Given the description of an element on the screen output the (x, y) to click on. 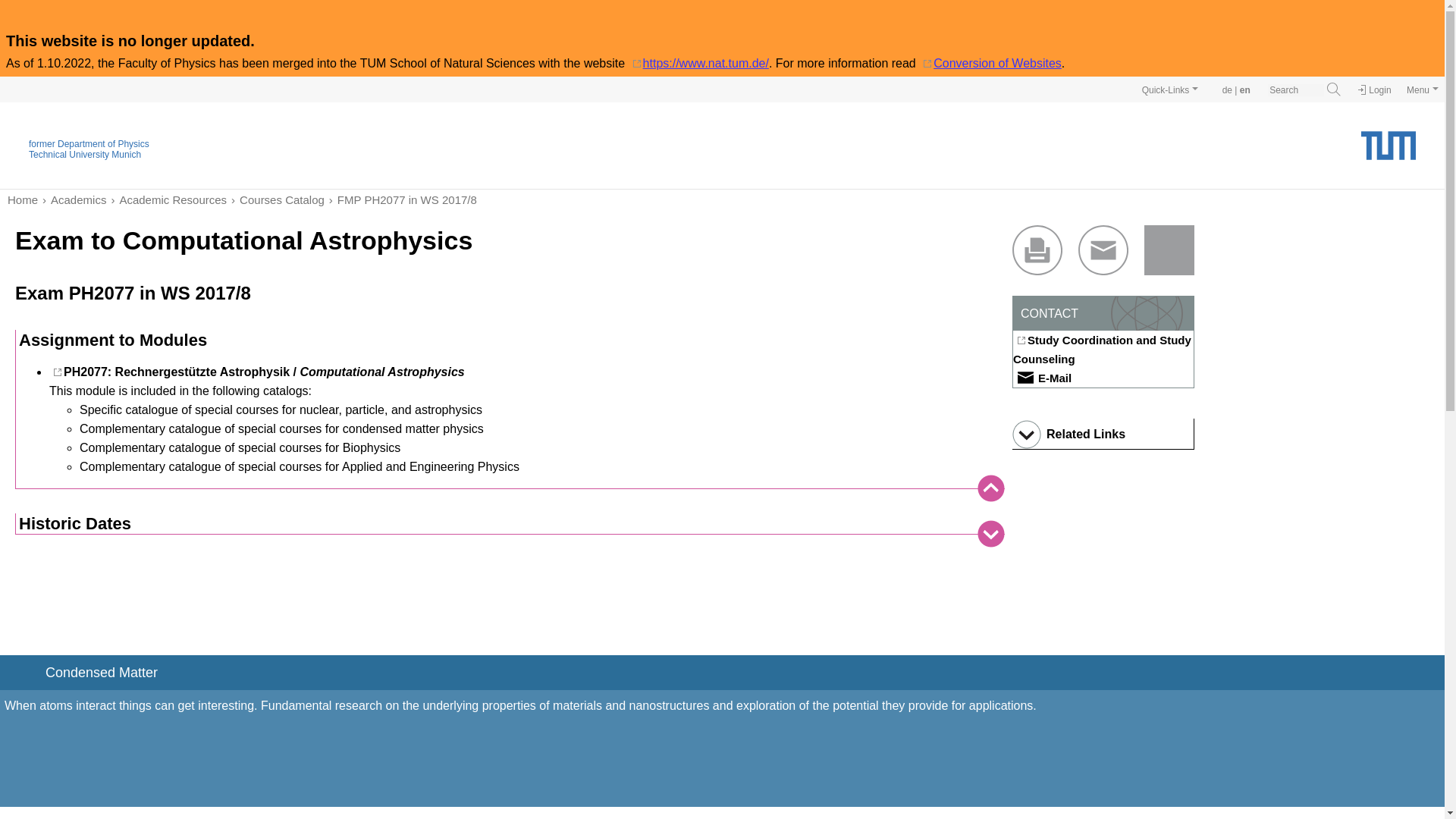
Home (22, 199)
send link to this page via e-mail (1103, 250)
the English language version is displayed (1245, 90)
Related Links (1102, 434)
Technical University Munich (85, 154)
Search phrase to find on these webpages (1295, 90)
Study Coordination and Study Counseling (1103, 349)
Conversion of Websites (989, 62)
E-Mail (1042, 377)
Login (1374, 90)
